Given the description of an element on the screen output the (x, y) to click on. 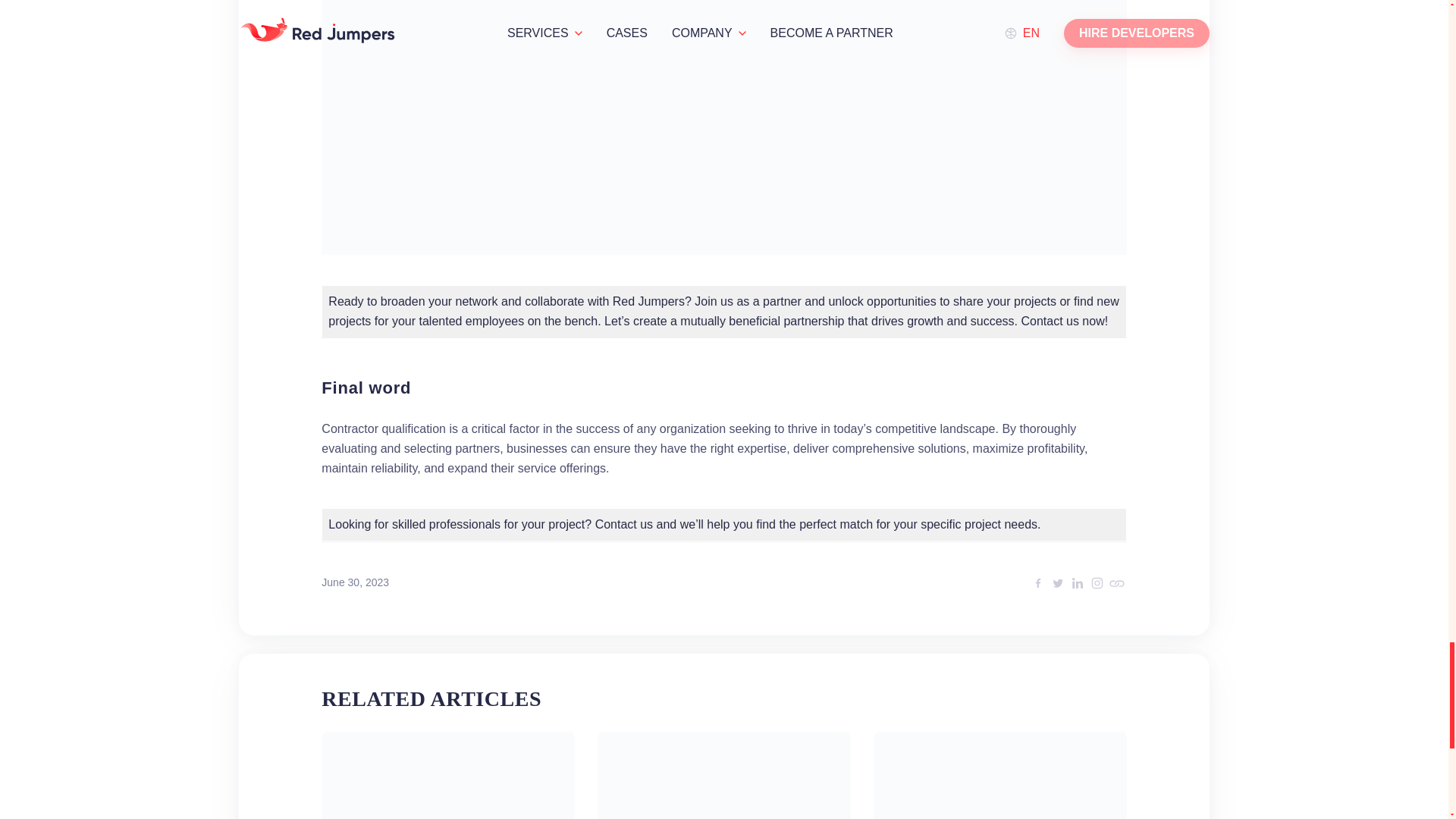
Copy Link (1116, 582)
Red Jumpers (648, 300)
Instagram (1097, 582)
Facebook (1037, 582)
Contact us (623, 523)
Linkedin (1077, 582)
Twitter (1057, 582)
